Given the description of an element on the screen output the (x, y) to click on. 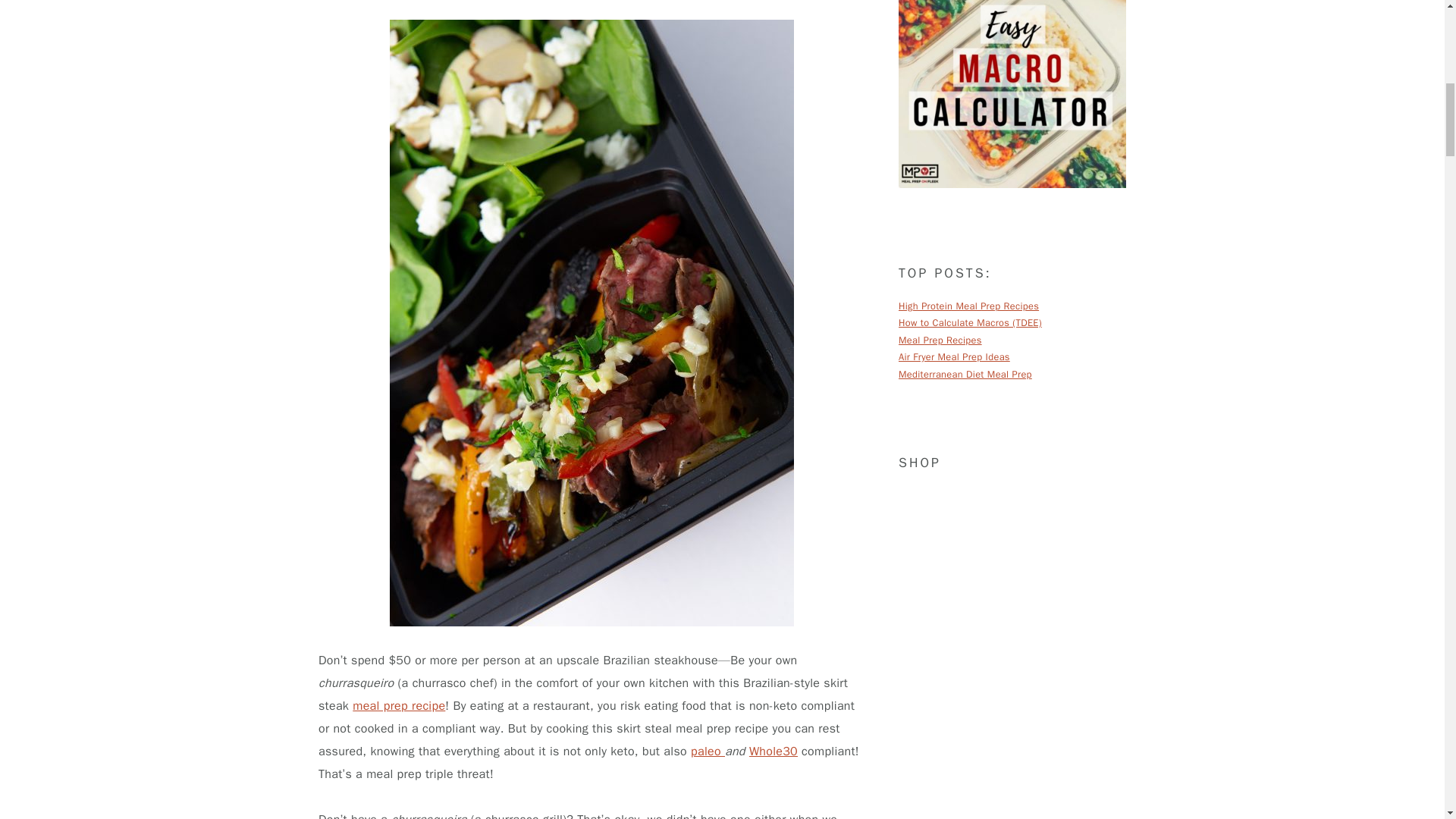
High Protein Meal Prep Recipes (968, 306)
Whole30 (773, 751)
paleo (707, 751)
meal prep recipe (398, 705)
